Given the description of an element on the screen output the (x, y) to click on. 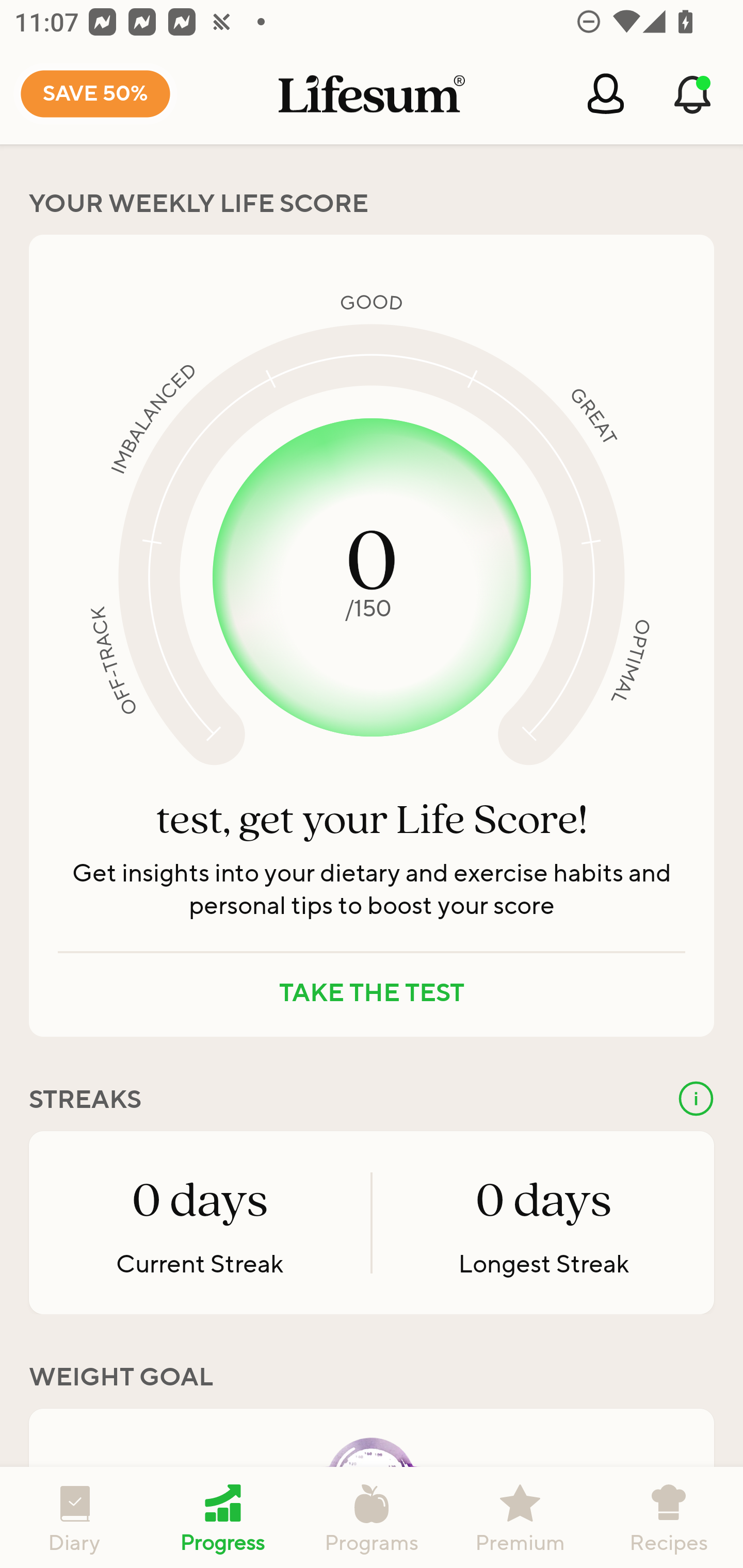
TAKE THE TEST (371, 993)
Diary (74, 1517)
Programs (371, 1517)
Premium (519, 1517)
Recipes (668, 1517)
